Given the description of an element on the screen output the (x, y) to click on. 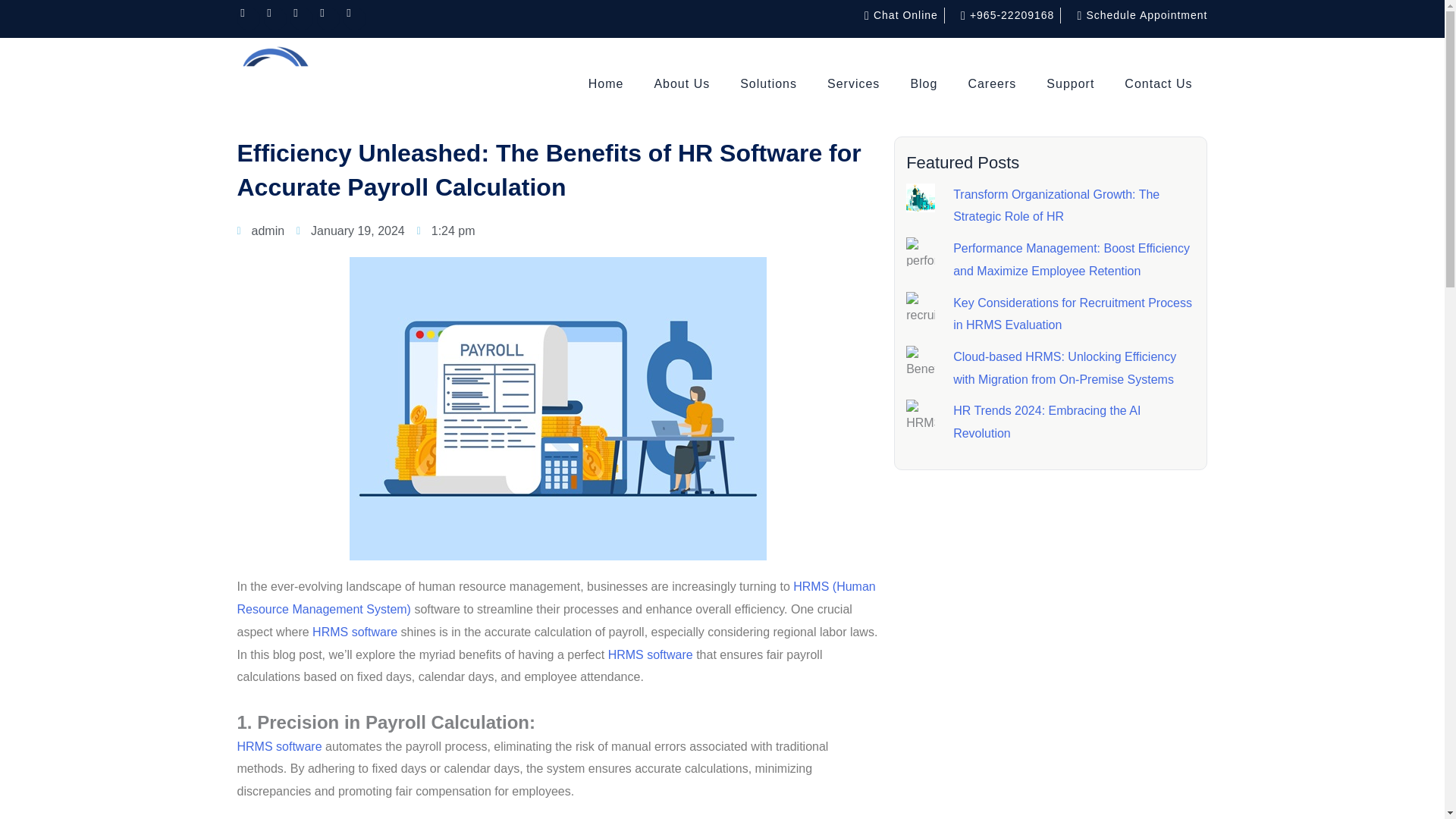
Facebook-f (274, 18)
Contact Us (1158, 83)
January 19, 2024 (350, 231)
HRMS software (355, 631)
admin (259, 231)
Blog (923, 83)
Services (853, 83)
About Us (682, 83)
Linkedin-in (247, 18)
Pinterest (328, 18)
